Given the description of an element on the screen output the (x, y) to click on. 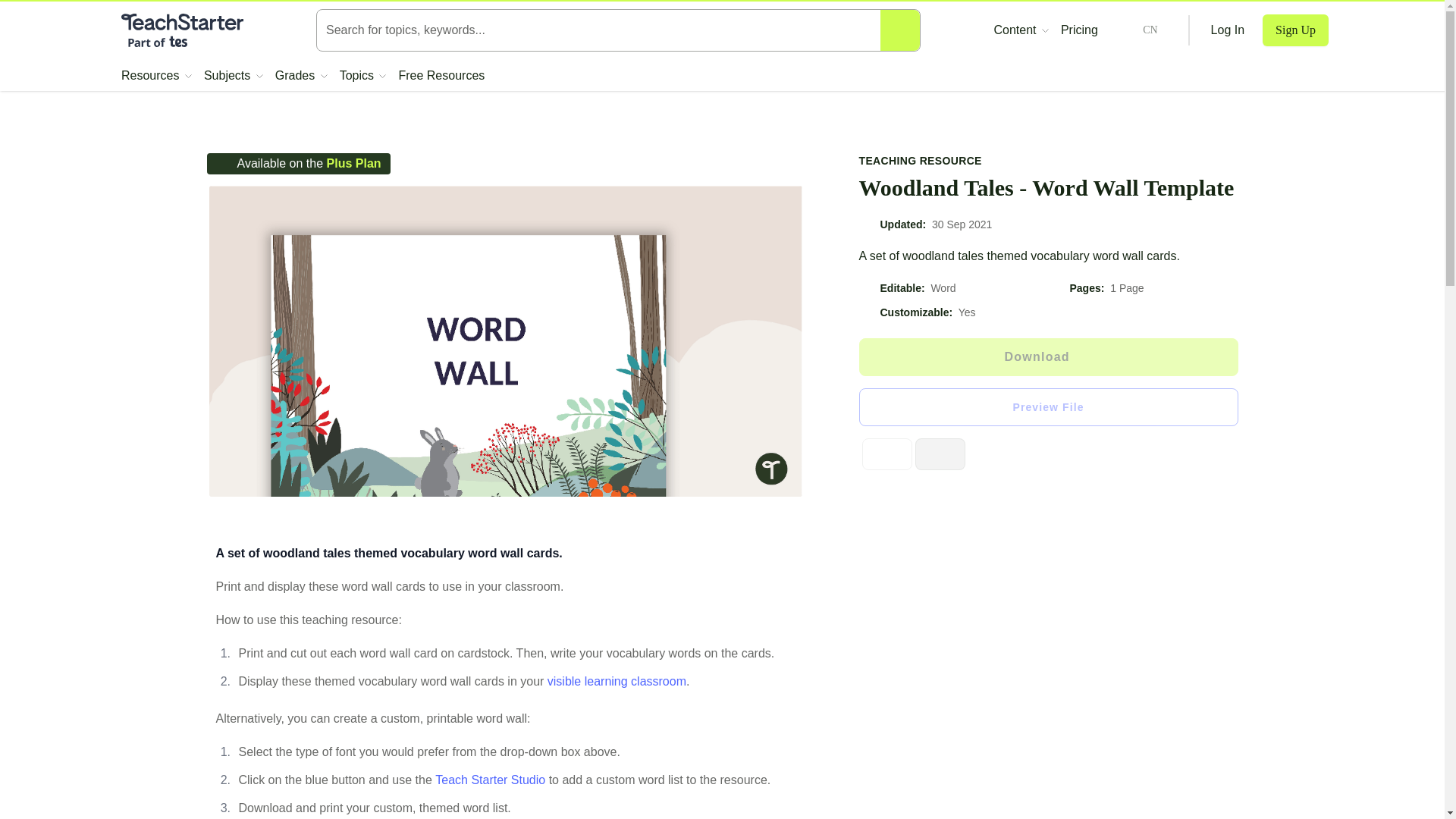
Back to homepage (181, 29)
Resources  (156, 75)
Resources (156, 75)
Create a Teach Starter account (1294, 29)
Grades  (301, 75)
Subjects  (233, 75)
Sign Up (1294, 29)
Log In (1227, 30)
Pricing (1079, 30)
Log in to your account (1227, 30)
